Given the description of an element on the screen output the (x, y) to click on. 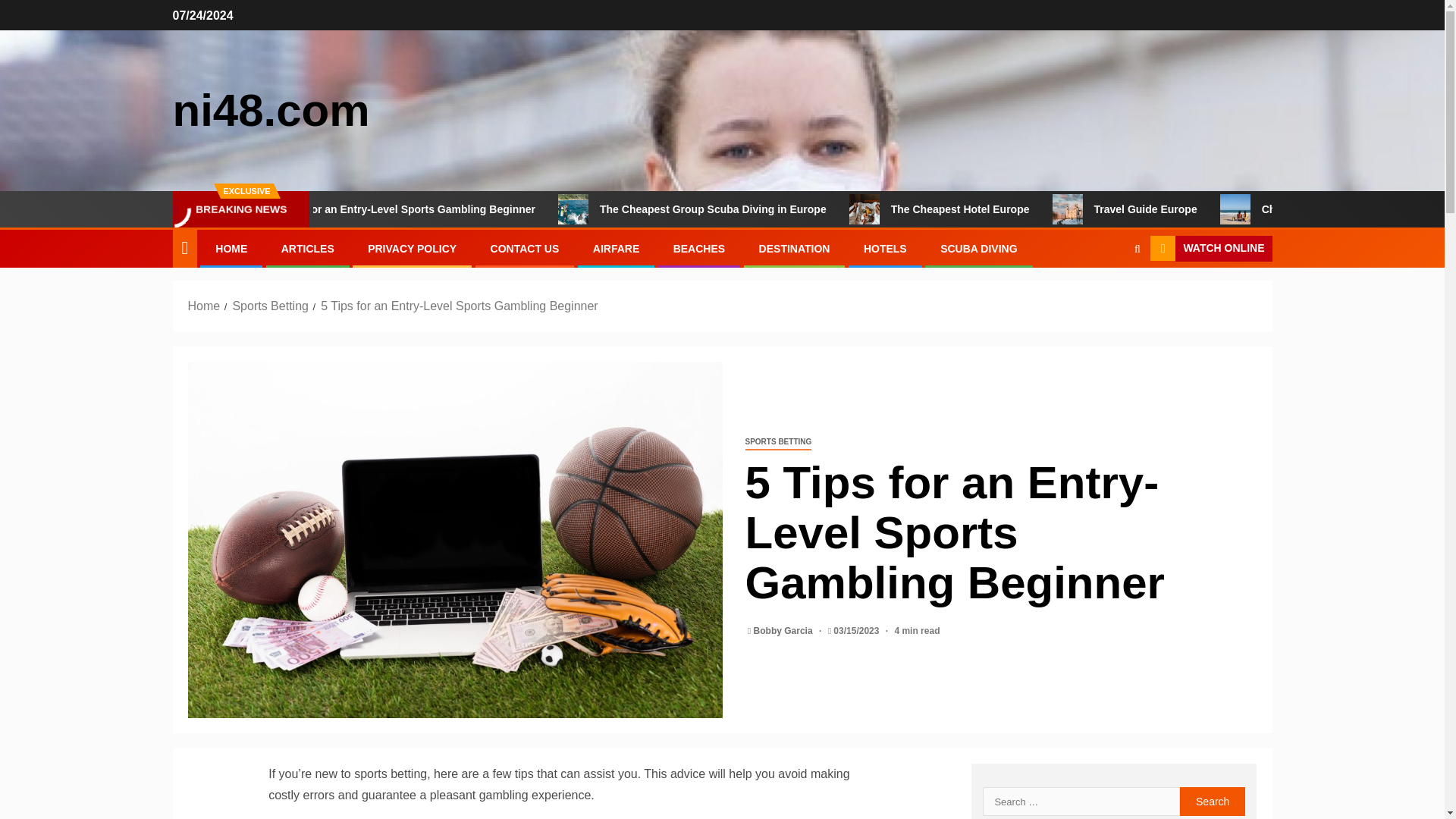
ni48.com (271, 110)
Travel Guide Europe (1214, 209)
CONTACT US (524, 248)
Sports Betting (269, 305)
Search (1212, 801)
PRIVACY POLICY (412, 248)
The Cheapest Group Scuba Diving in Europe (782, 209)
Bobby Garcia (784, 630)
BEACHES (698, 248)
DESTINATION (793, 248)
Search (1212, 801)
SCUBA DIVING (978, 248)
HOTELS (885, 248)
WATCH ONLINE (1210, 248)
5 Tips for an Entry-Level Sports Gambling Beginner (476, 209)
